Given the description of an element on the screen output the (x, y) to click on. 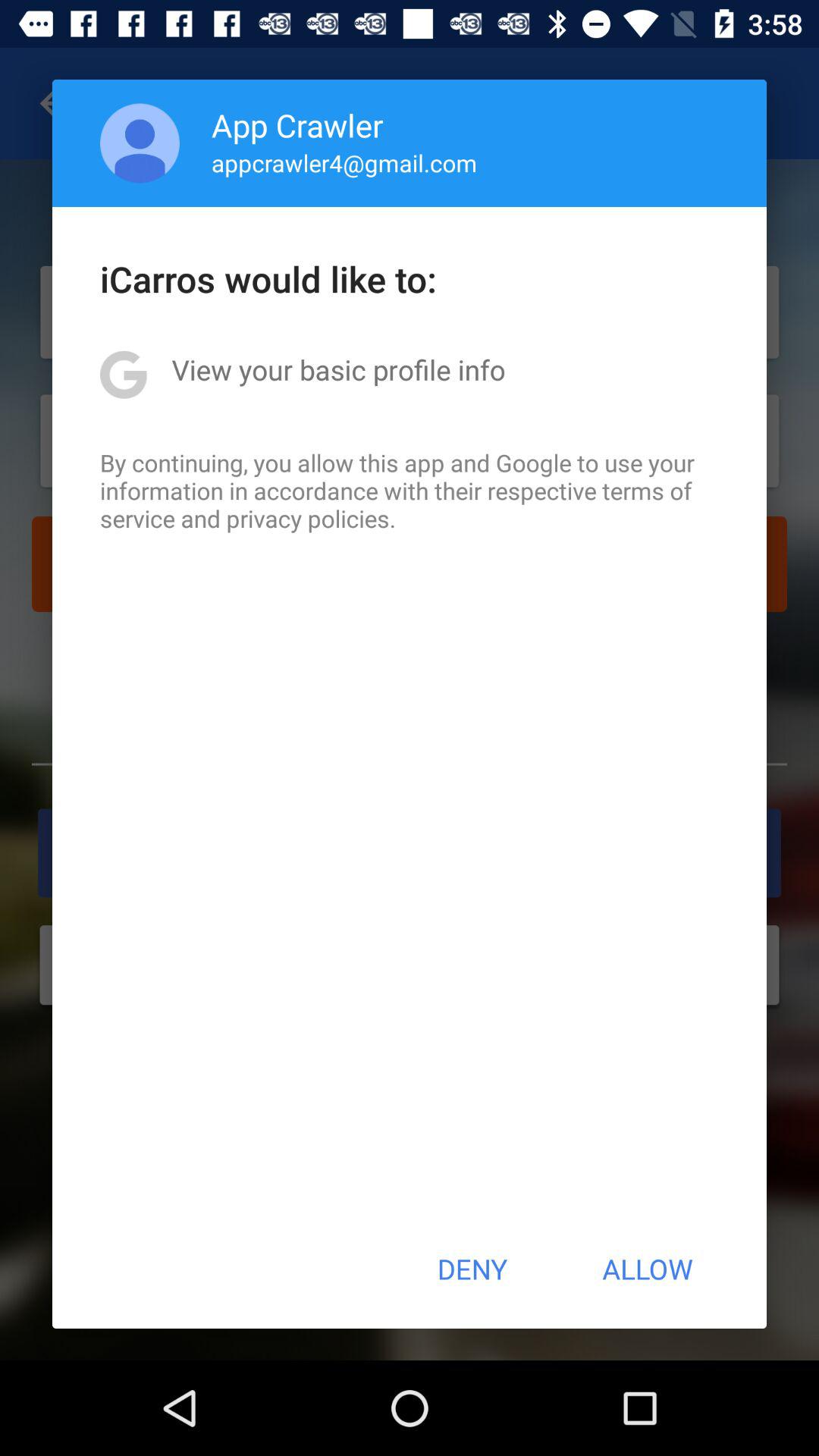
flip until deny (471, 1268)
